Given the description of an element on the screen output the (x, y) to click on. 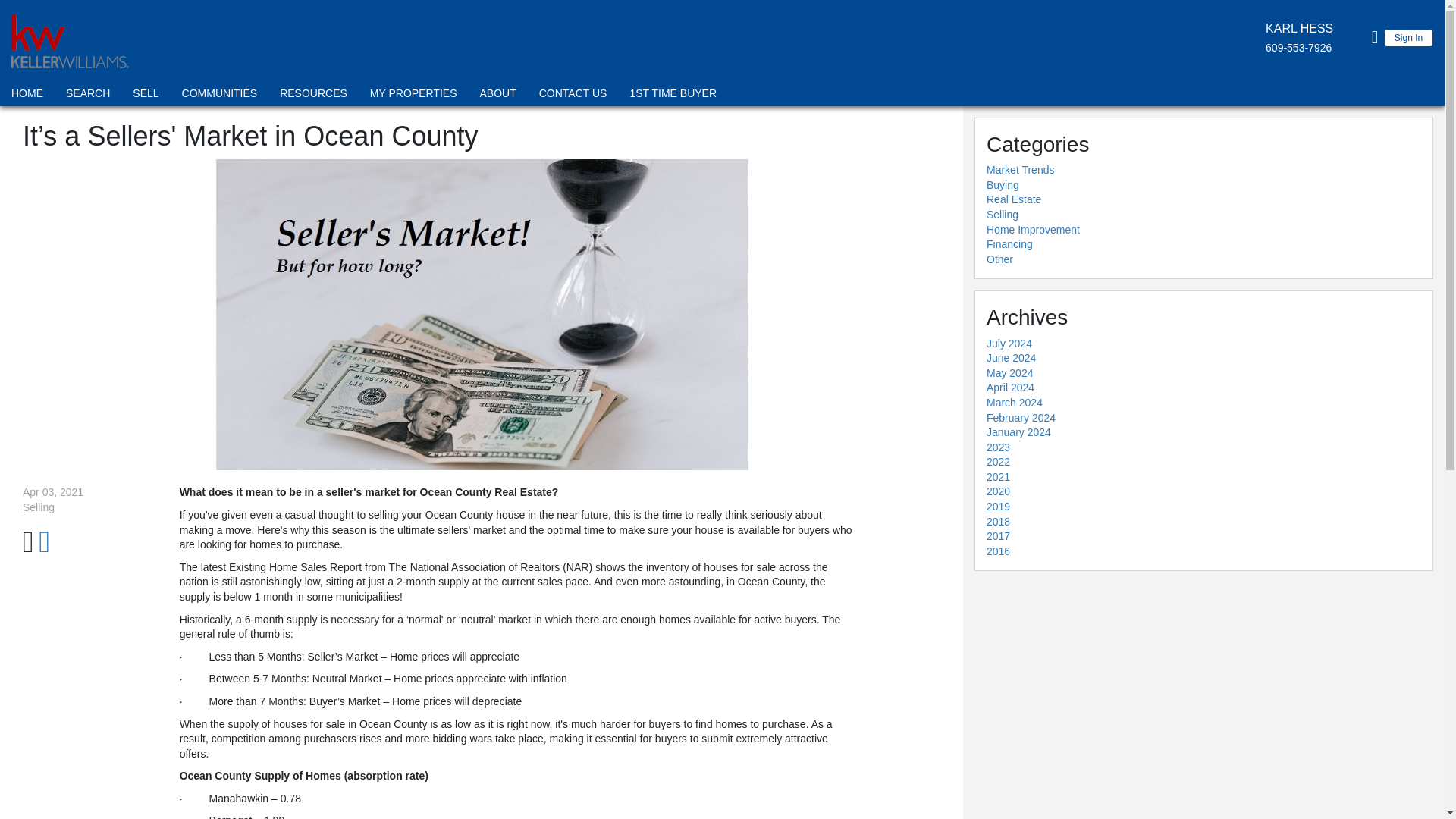
609-553-7926 (1298, 47)
HOME (26, 95)
CONTACT US (573, 95)
Home Improvement (1033, 229)
Sign In (1408, 37)
June 2024 (1011, 357)
SELL (145, 95)
SEARCH (87, 95)
COMMUNITIES (219, 95)
May 2024 (1009, 372)
